Given the description of an element on the screen output the (x, y) to click on. 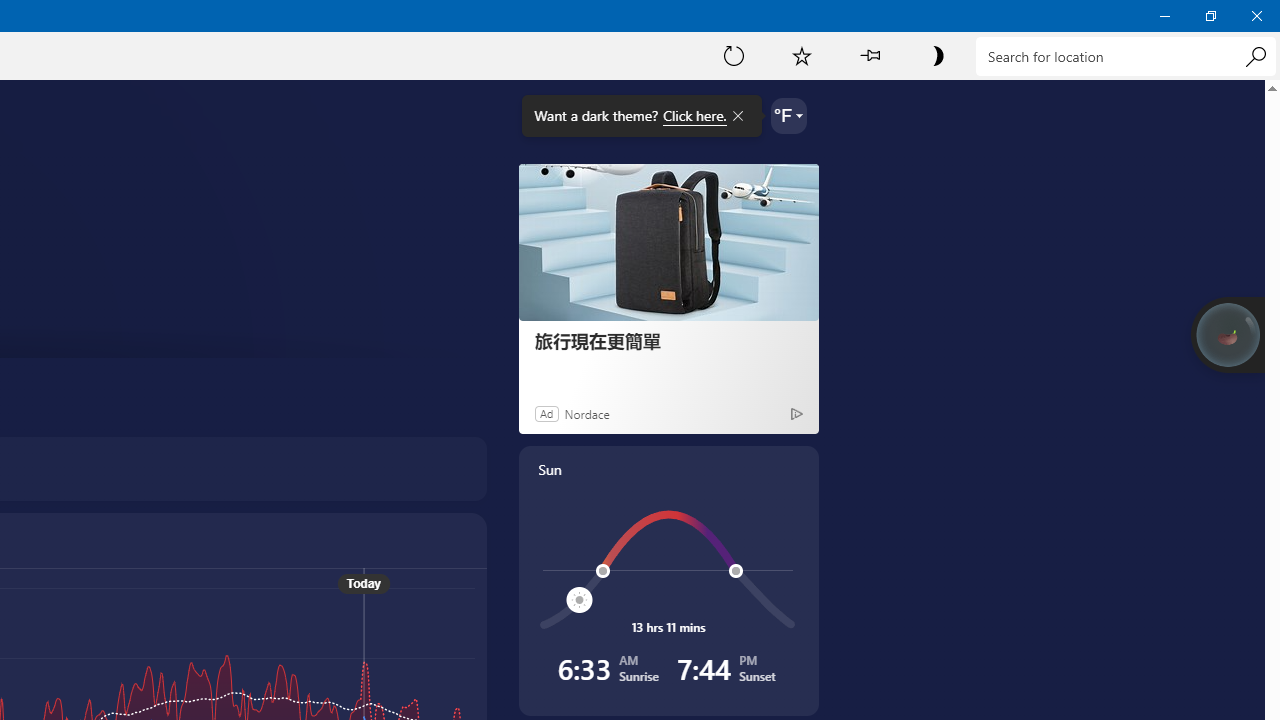
Close Weather (1256, 15)
Refresh (734, 55)
Search (1255, 56)
Pin (869, 55)
Search for location (1125, 56)
Turn on dark theme (937, 55)
Add to Favorites (801, 55)
Minimize Weather (1164, 15)
Restore Weather (1210, 15)
